Given the description of an element on the screen output the (x, y) to click on. 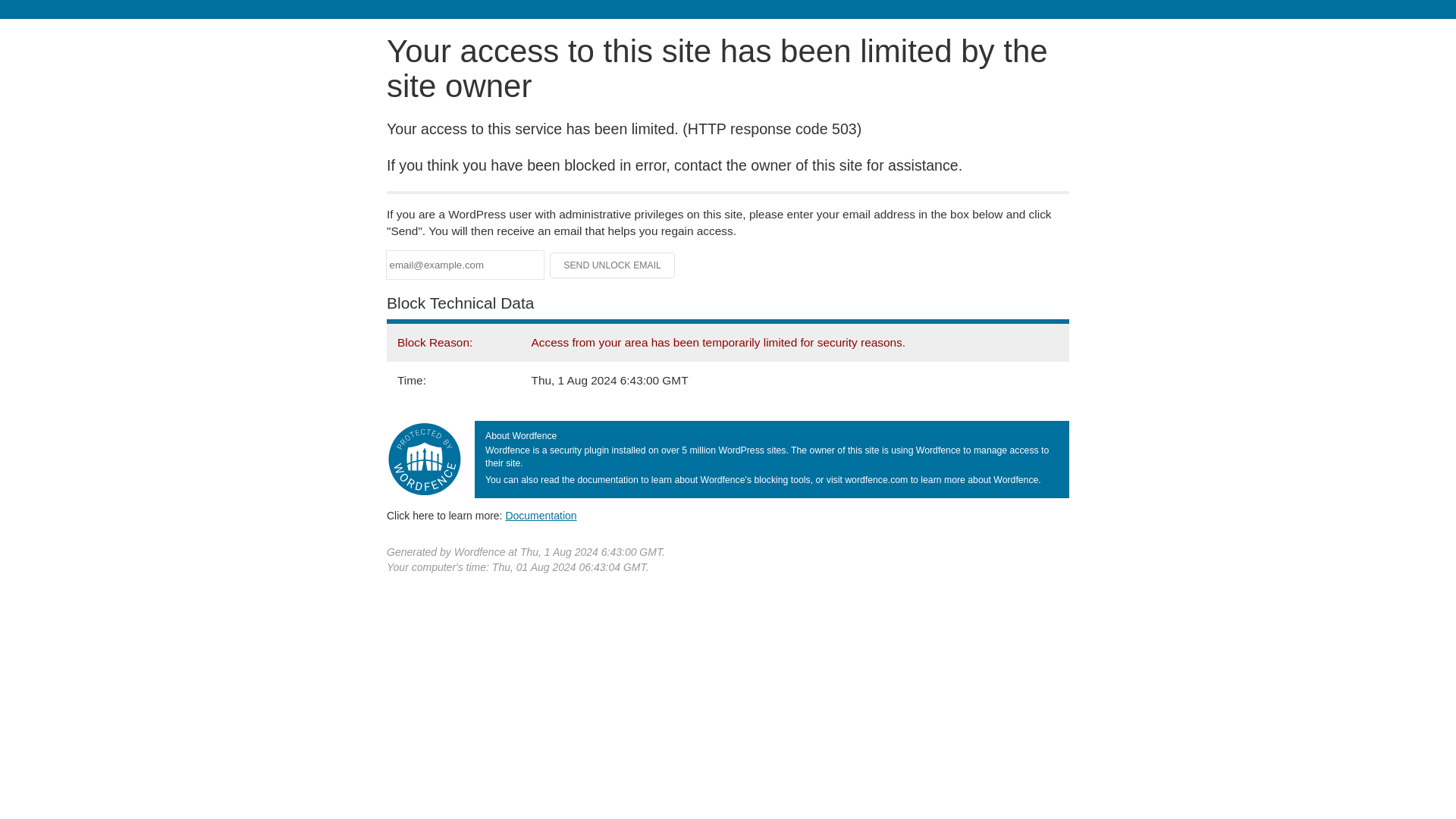
Documentation (540, 515)
Send Unlock Email (612, 265)
Send Unlock Email (612, 265)
